Given the description of an element on the screen output the (x, y) to click on. 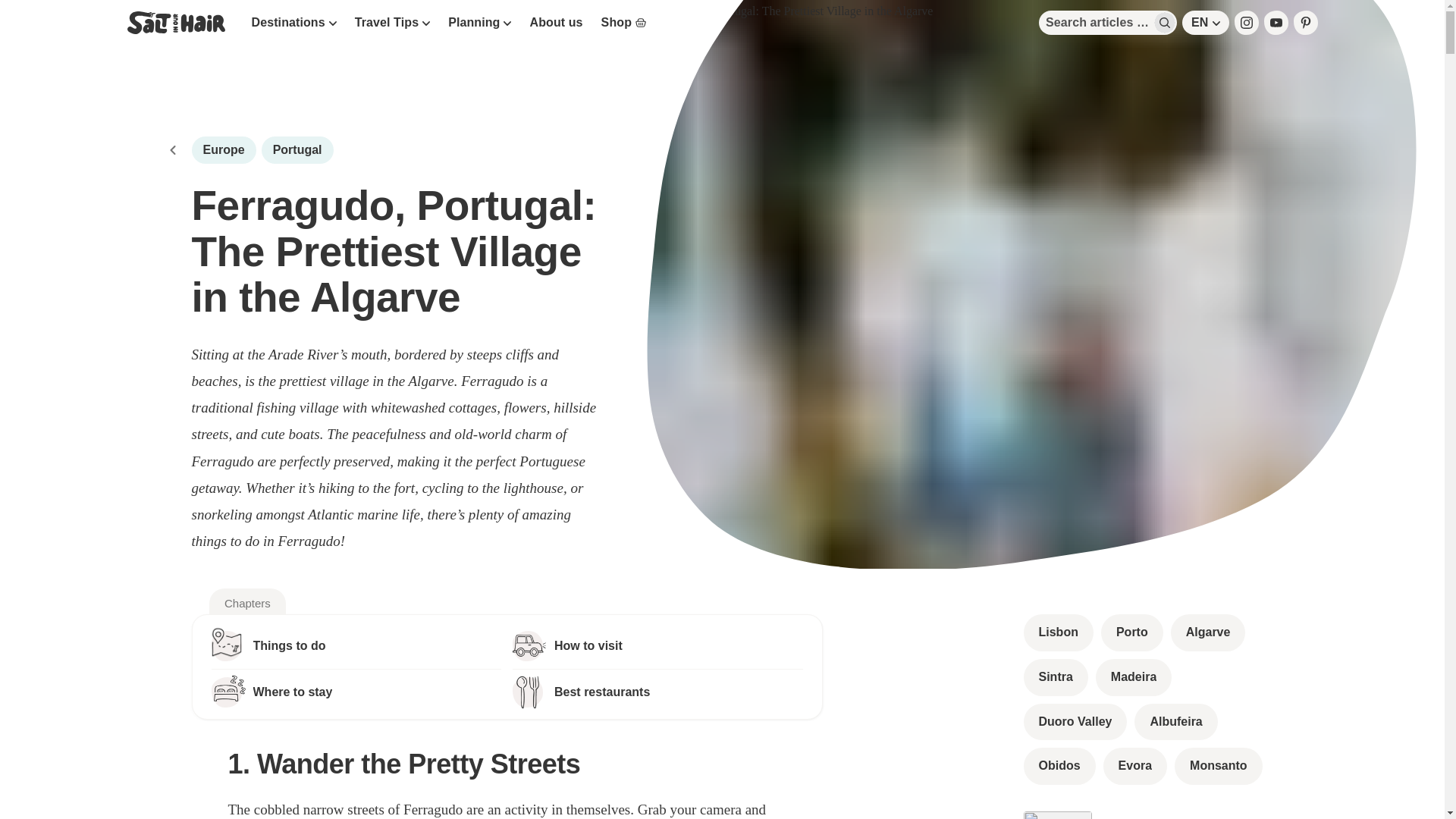
europe (223, 149)
Things to do (355, 645)
How to visit (657, 645)
Portugal (297, 149)
Best restaurants (657, 691)
Where to stay (355, 691)
Europe (223, 149)
Home (172, 149)
